Given the description of an element on the screen output the (x, y) to click on. 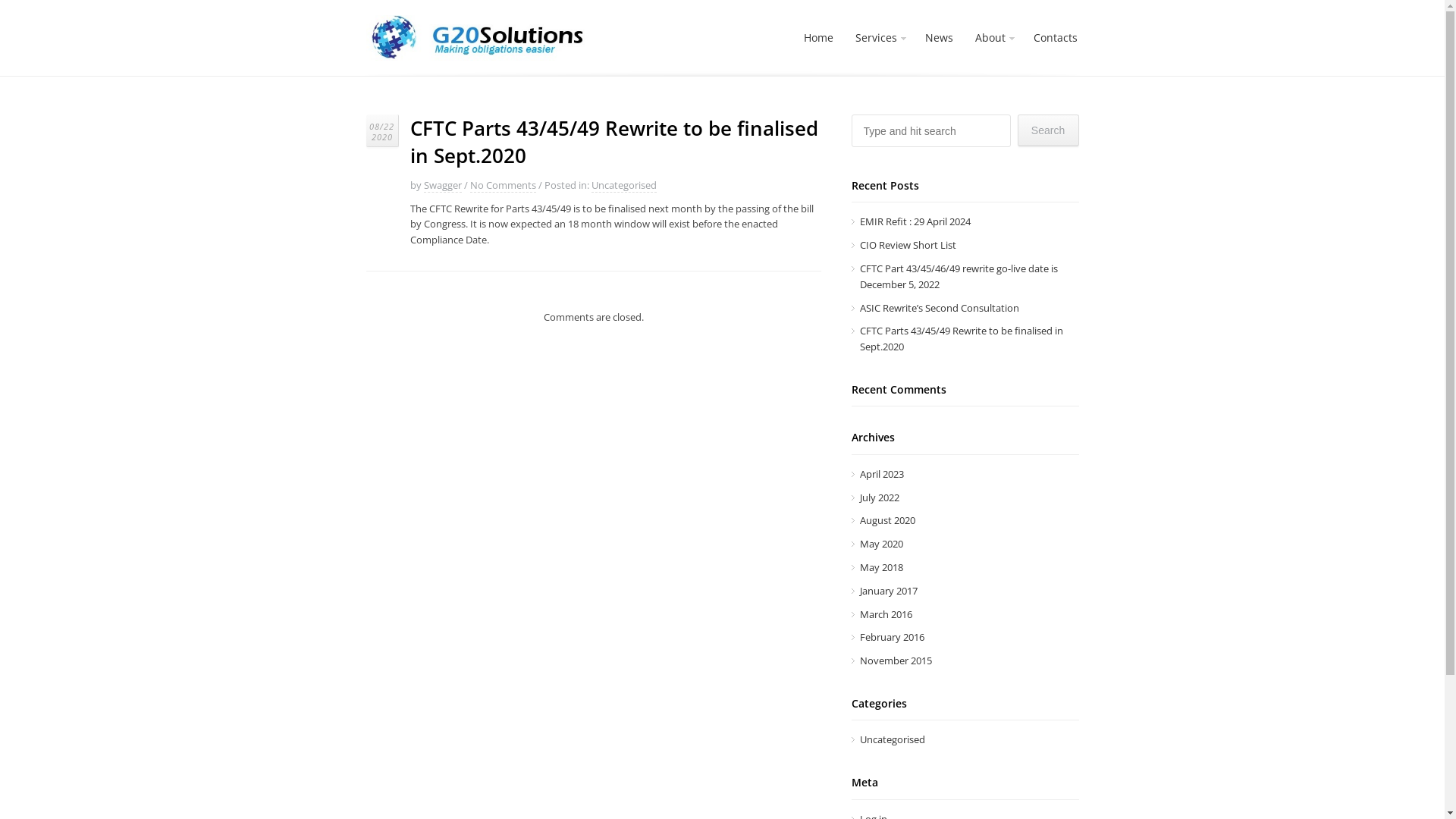
Contacts Element type: text (1054, 37)
Uncategorised Element type: text (623, 185)
April 2023 Element type: text (881, 473)
Search Element type: text (1048, 130)
News Element type: text (939, 37)
August 2020 Element type: text (887, 520)
EMIR Refit : 29 April 2024 Element type: text (914, 221)
Home Element type: text (818, 37)
No Comments Element type: text (503, 185)
February 2016 Element type: text (891, 636)
Uncategorised Element type: text (892, 739)
May 2020 Element type: text (881, 543)
July 2022 Element type: text (879, 497)
Swagger Element type: text (442, 185)
May 2018 Element type: text (881, 567)
March 2016 Element type: text (885, 614)
CIO Review Short List Element type: text (907, 244)
CFTC Parts 43/45/49 Rewrite to be finalised in Sept.2020 Element type: text (961, 338)
November 2015 Element type: text (895, 660)
January 2017 Element type: text (888, 590)
